Given the description of an element on the screen output the (x, y) to click on. 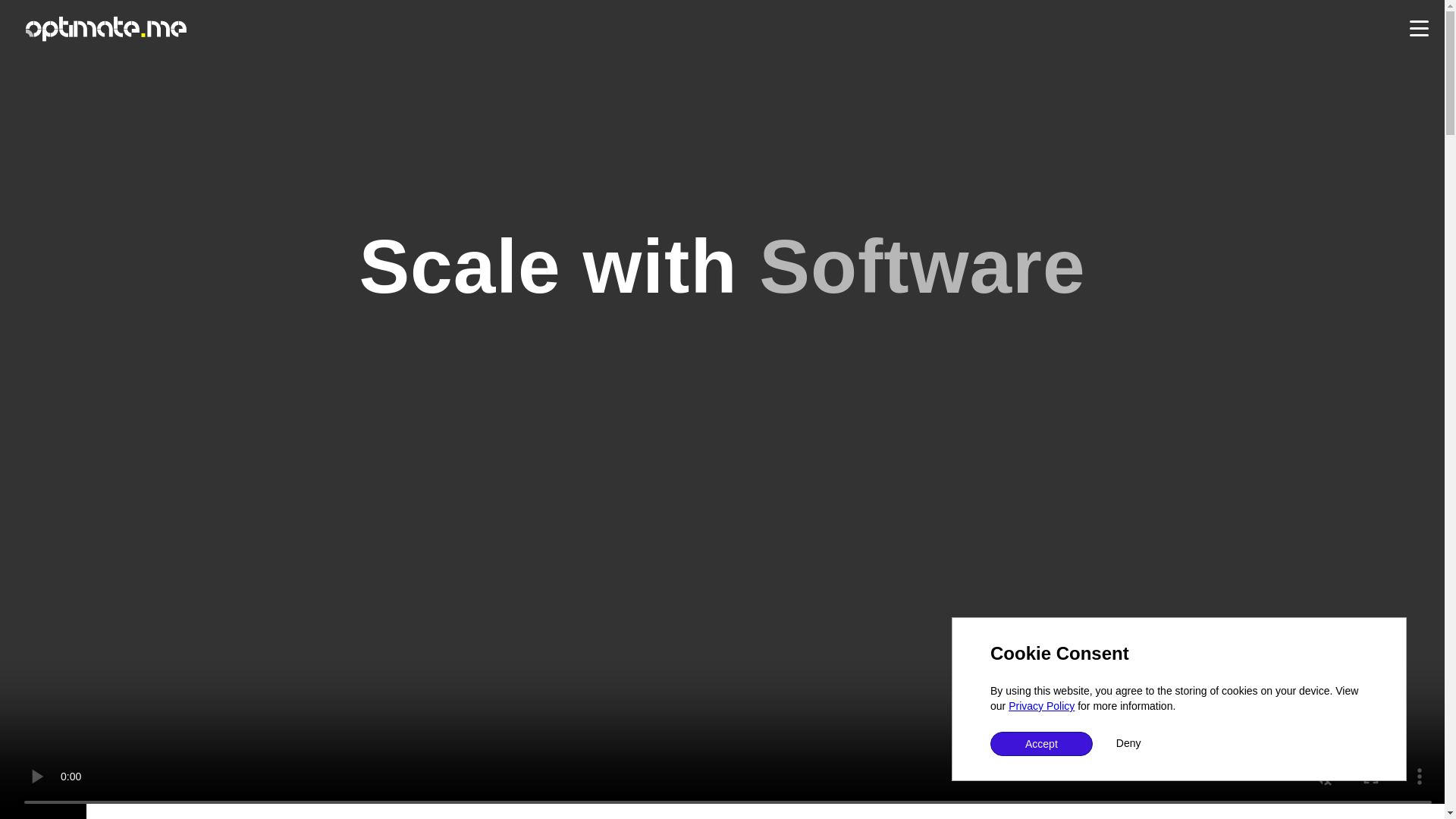
Privacy Policy (1041, 705)
Accept (1041, 743)
Deny (1129, 743)
